Given the description of an element on the screen output the (x, y) to click on. 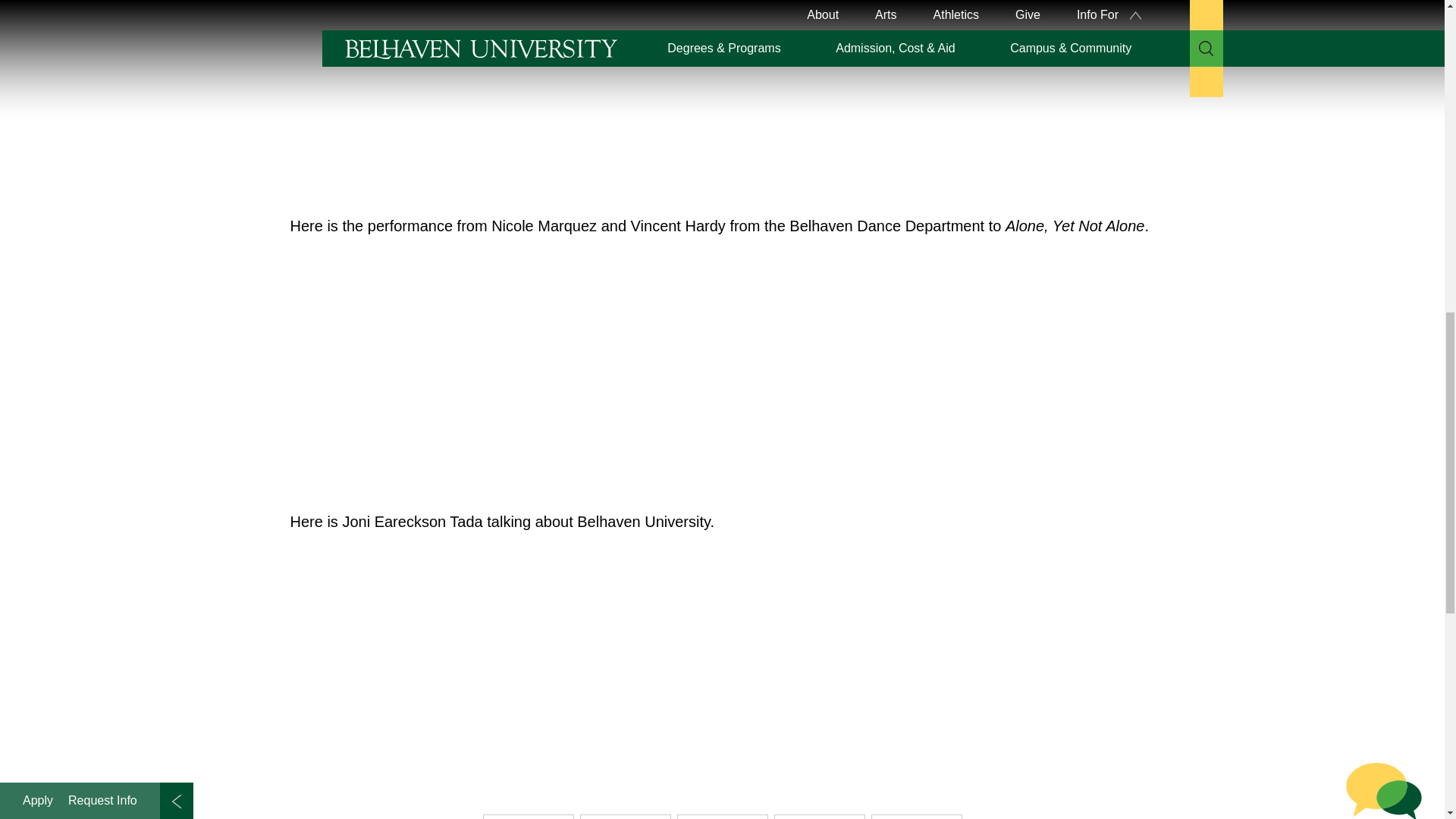
Joni Eareckson Tada speaks at Belhaven University (501, 97)
Alone, Yet Not Alone by Joni Eareckson Tada (501, 370)
Joni Eareckson Tada and Belhaven University (501, 666)
